Given the description of an element on the screen output the (x, y) to click on. 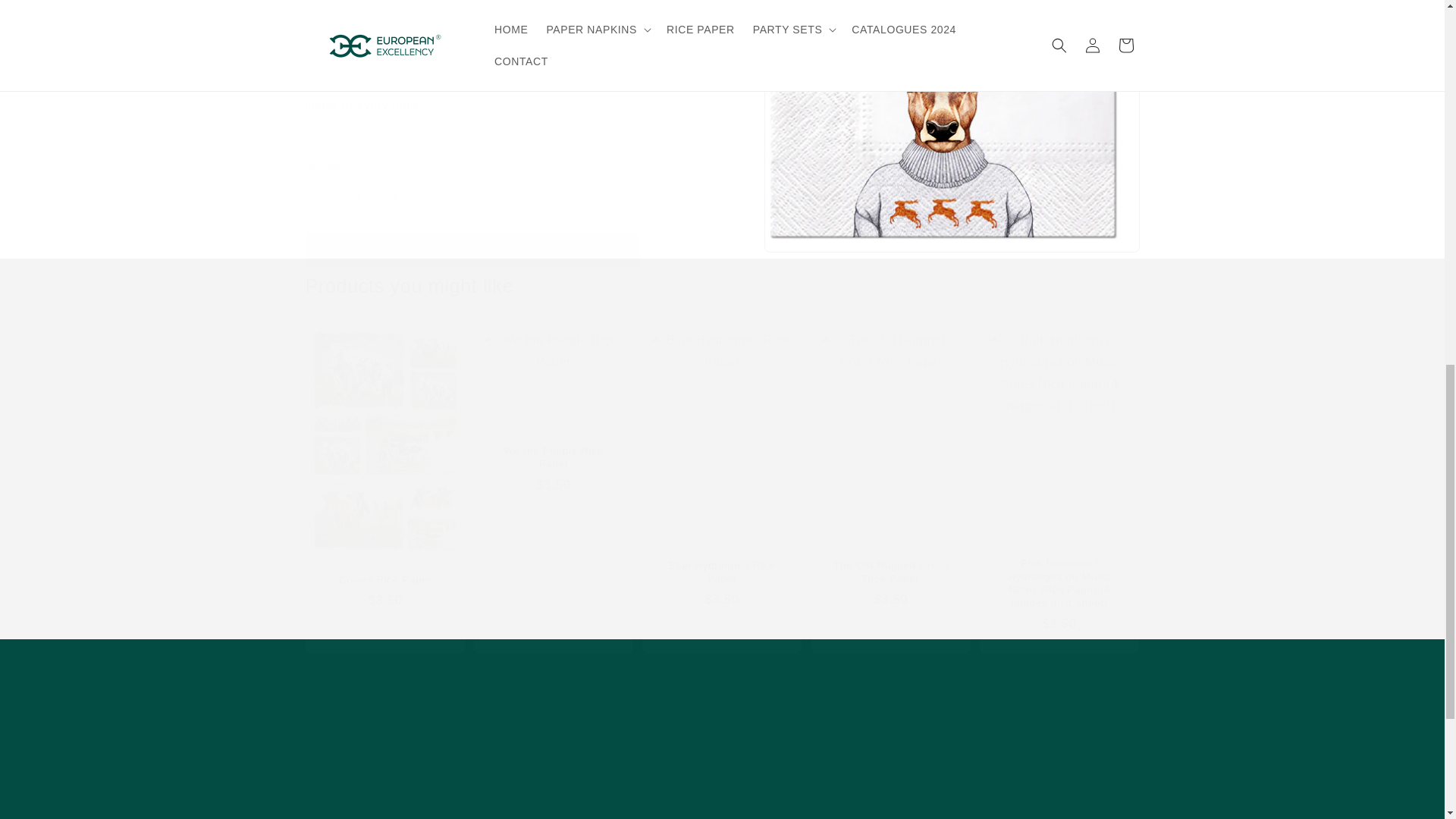
Decrease quantity for King Of Forest Luncheon Napkins (322, 176)
1 (358, 176)
